Given the description of an element on the screen output the (x, y) to click on. 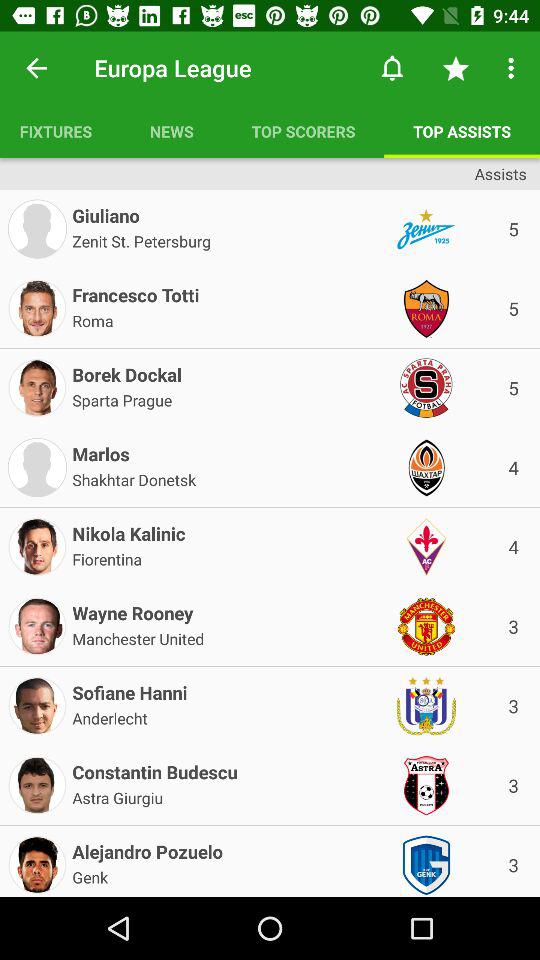
tap the item to the right of fixtures icon (171, 131)
